Given the description of an element on the screen output the (x, y) to click on. 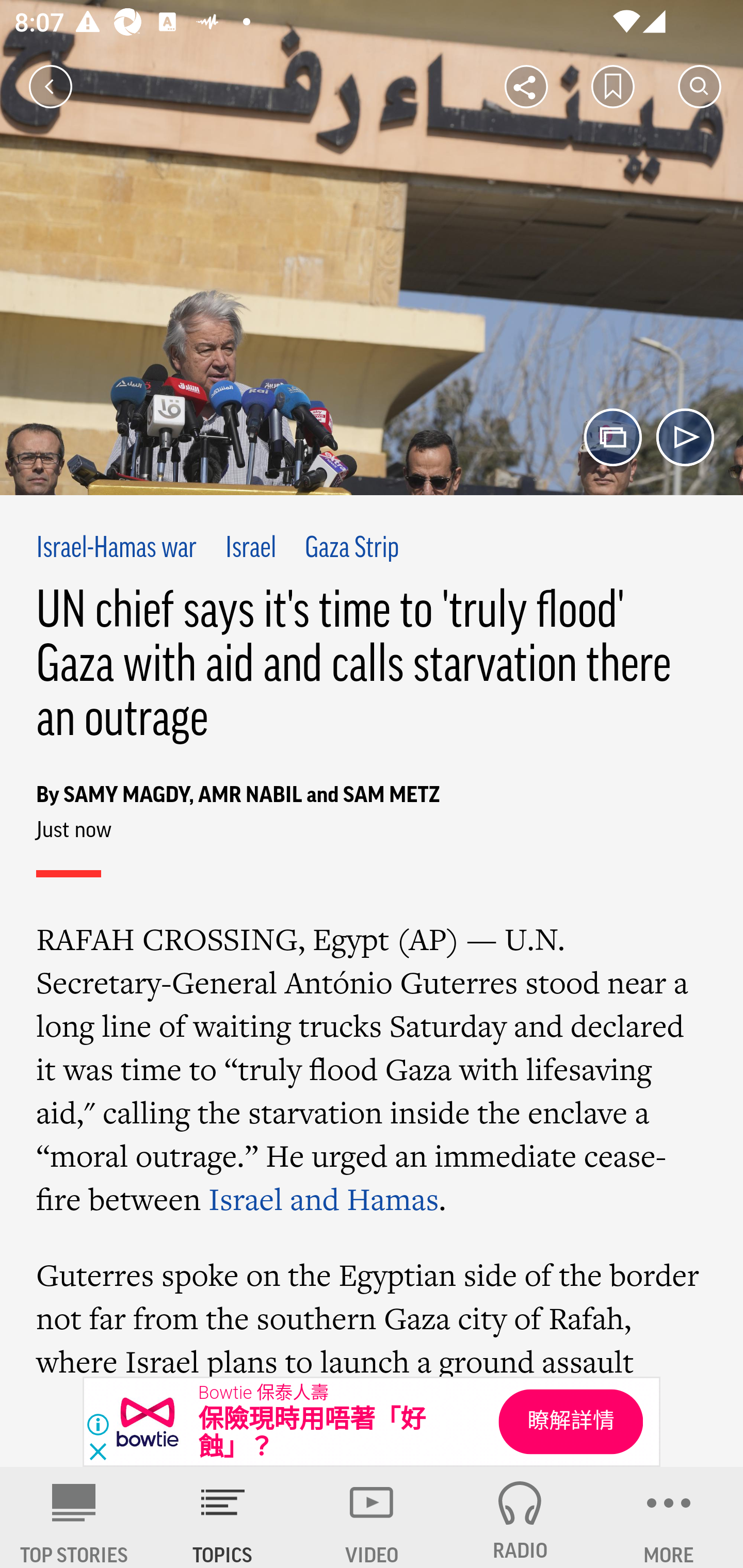
AP News TOP STORIES (74, 1517)
TOPICS (222, 1517)
VIDEO (371, 1517)
RADIO (519, 1517)
MORE (668, 1517)
